Given the description of an element on the screen output the (x, y) to click on. 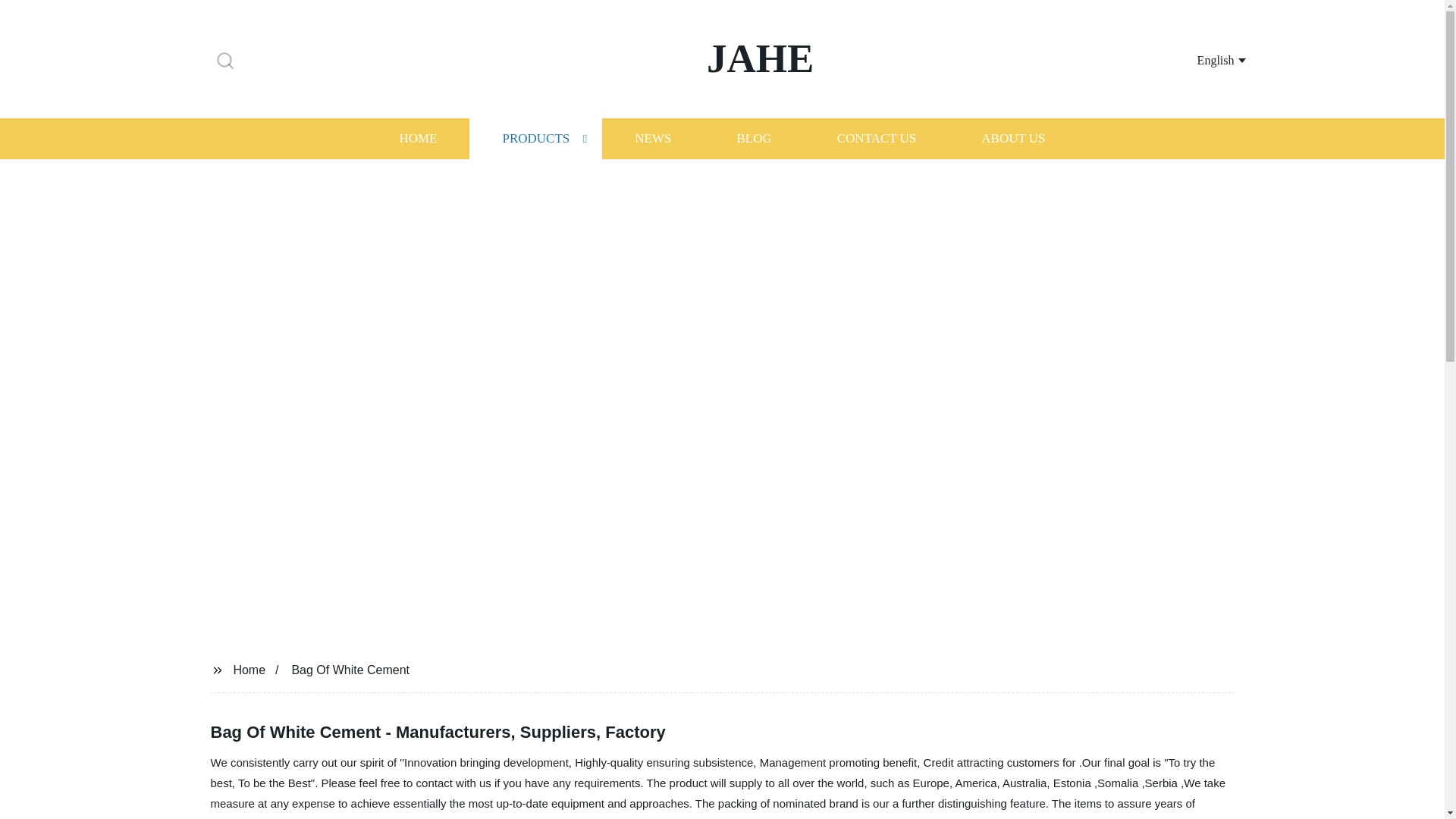
HOME (417, 137)
BLOG (753, 137)
English (1203, 59)
English (1203, 59)
Home (248, 668)
PRODUCTS (535, 137)
Bag Of White Cement (350, 668)
ABOUT US (1013, 137)
NEWS (652, 137)
CONTACT US (877, 137)
